Given the description of an element on the screen output the (x, y) to click on. 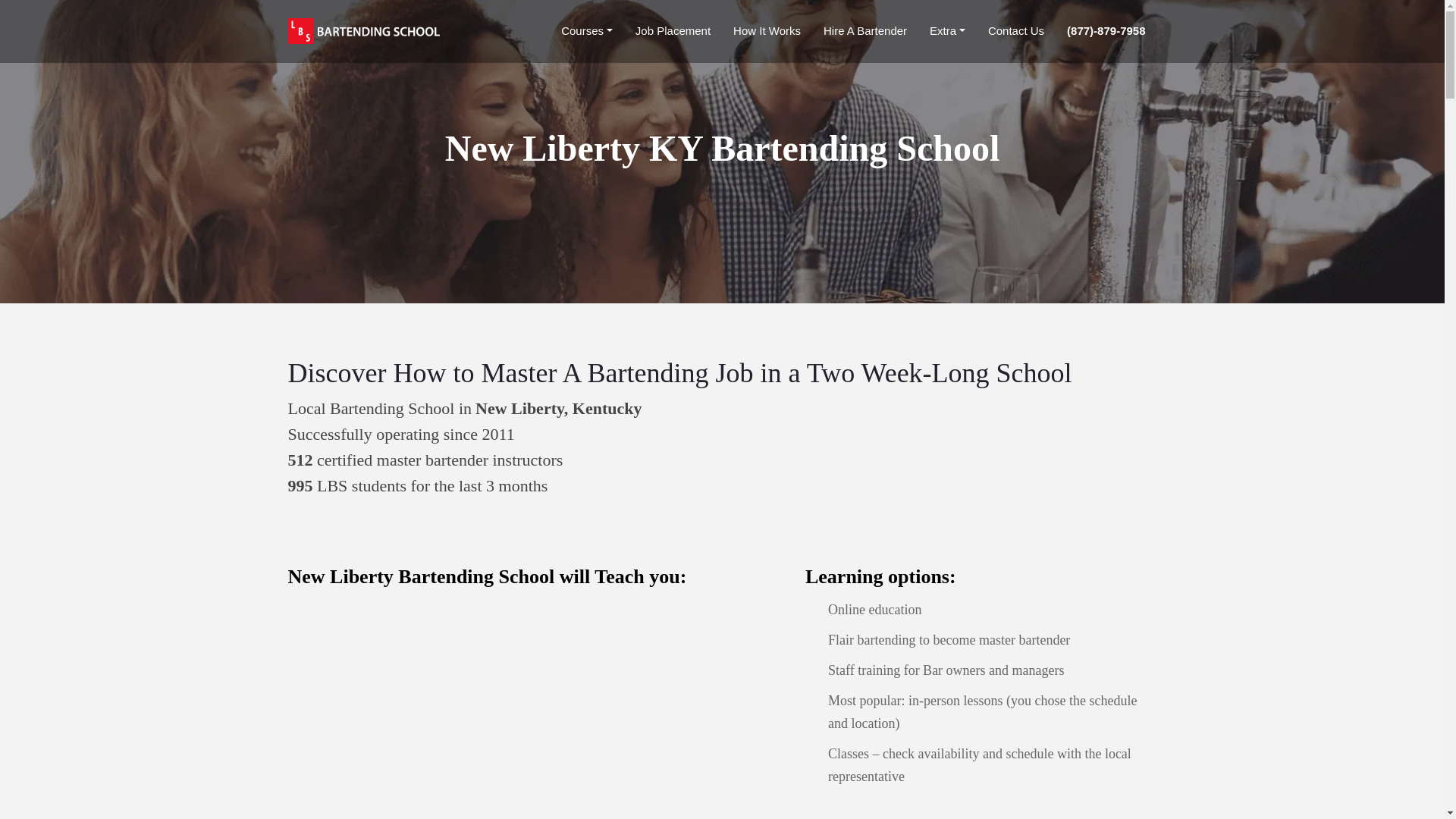
Hire A Bartender (864, 30)
Extra (947, 30)
How It Works (766, 30)
Contact Us (1015, 30)
Job Placement (672, 30)
Courses (586, 30)
